Given the description of an element on the screen output the (x, y) to click on. 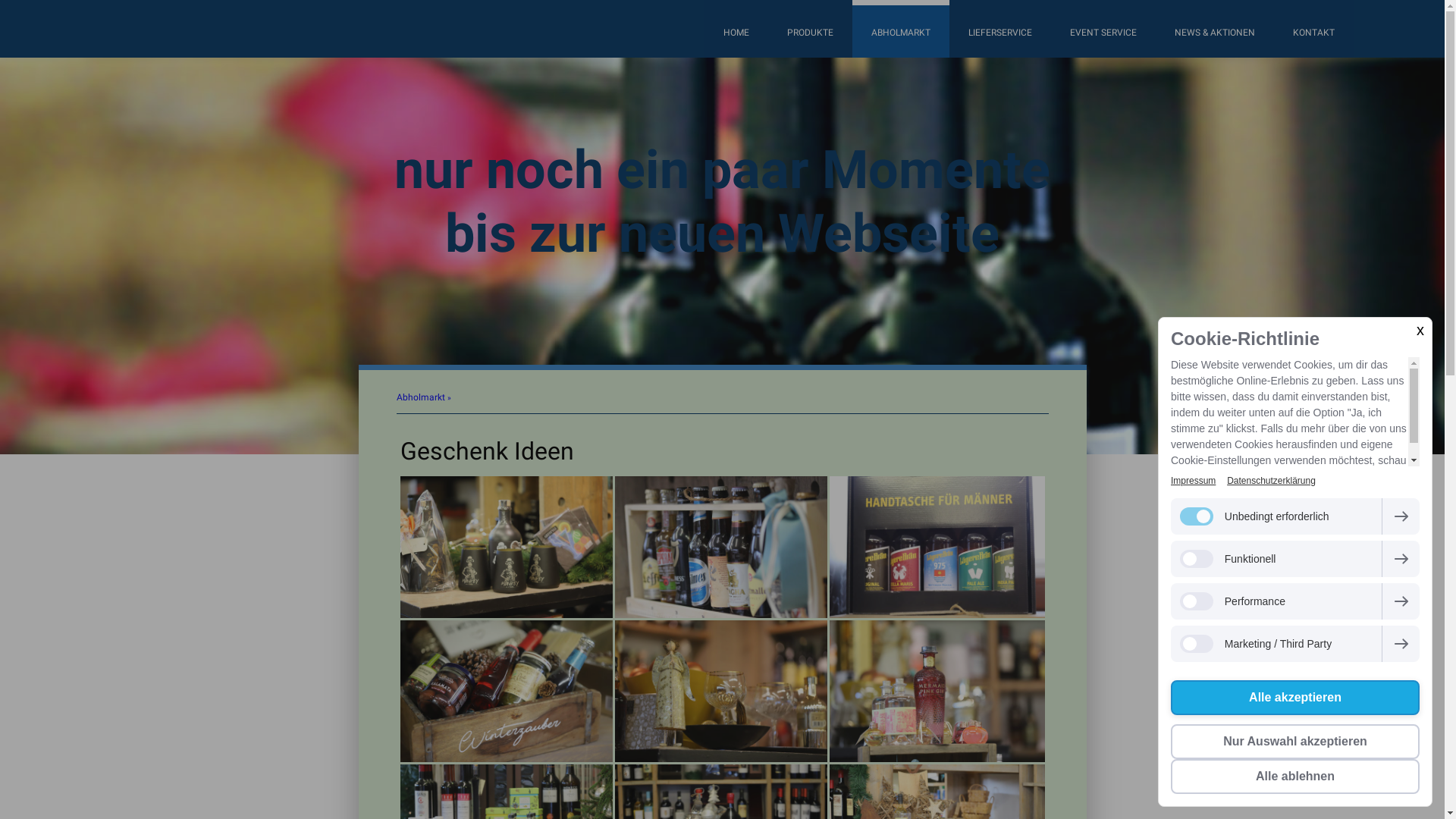
ABHOLMARKT Element type: text (900, 28)
nur noch ein paar Momente bis zur neuen Webseite Element type: text (722, 201)
LIEFERSERVICE Element type: text (1000, 28)
NEWS & AKTIONEN Element type: text (1214, 28)
PRODUKTE Element type: text (810, 28)
Alle akzeptieren Element type: text (1294, 697)
KONTAKT Element type: text (1313, 28)
EVENT SERVICE Element type: text (1103, 28)
Abholmarkt Element type: text (423, 397)
HOME Element type: text (736, 28)
Alle ablehnen Element type: text (1294, 776)
Nur Auswahl akzeptieren Element type: text (1294, 741)
Impressum Element type: text (1192, 480)
